Given the description of an element on the screen output the (x, y) to click on. 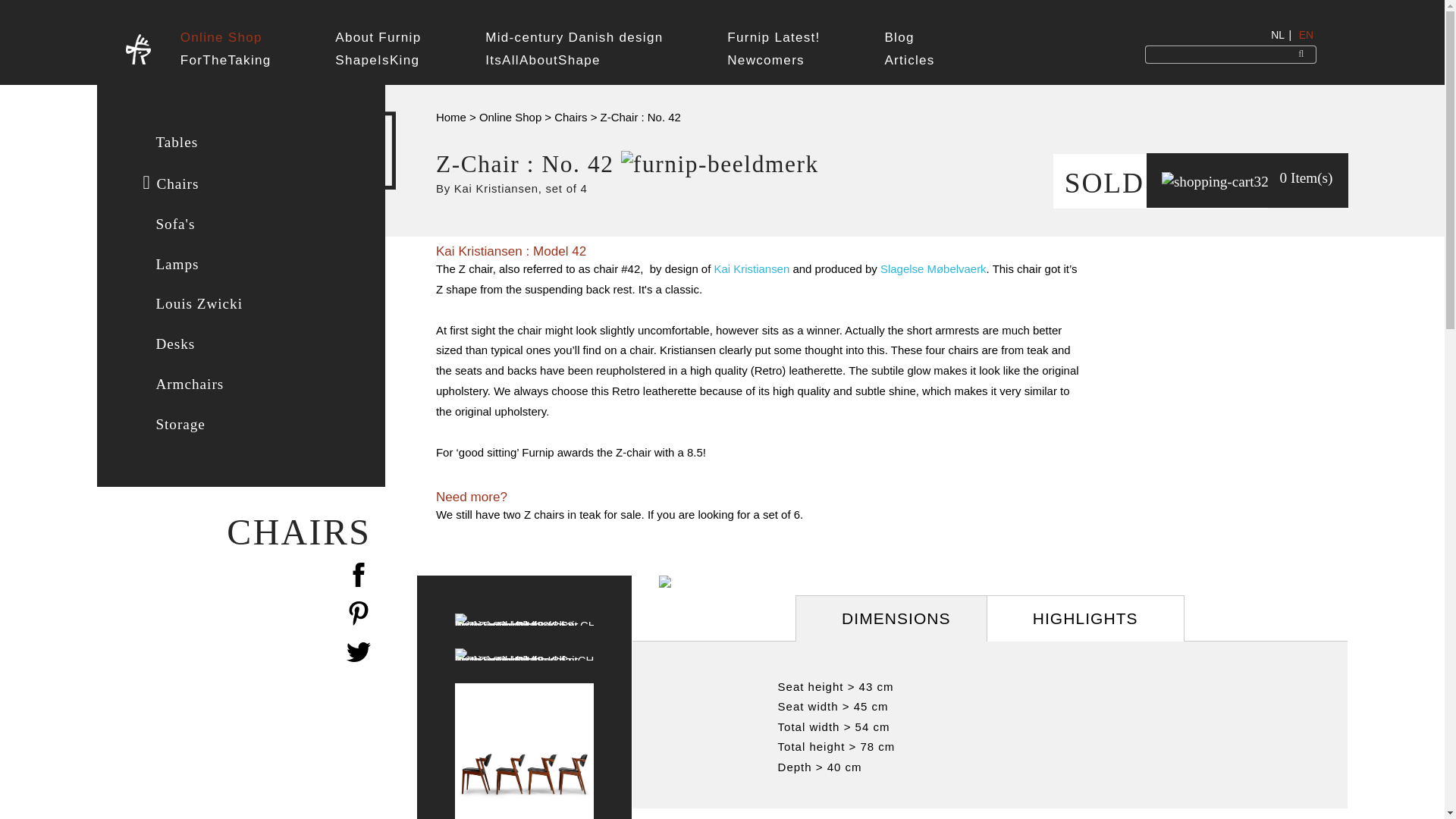
Share on Facebook (234, 577)
Newcomers (772, 34)
Furnip Latest! (772, 34)
Tweet (234, 654)
Online Shop (225, 34)
Articles (908, 34)
ShapeIsKing (377, 34)
Blog (908, 34)
ForTheTaking (225, 34)
About Furnip (377, 34)
Save to Pinboard (234, 616)
